Given the description of an element on the screen output the (x, y) to click on. 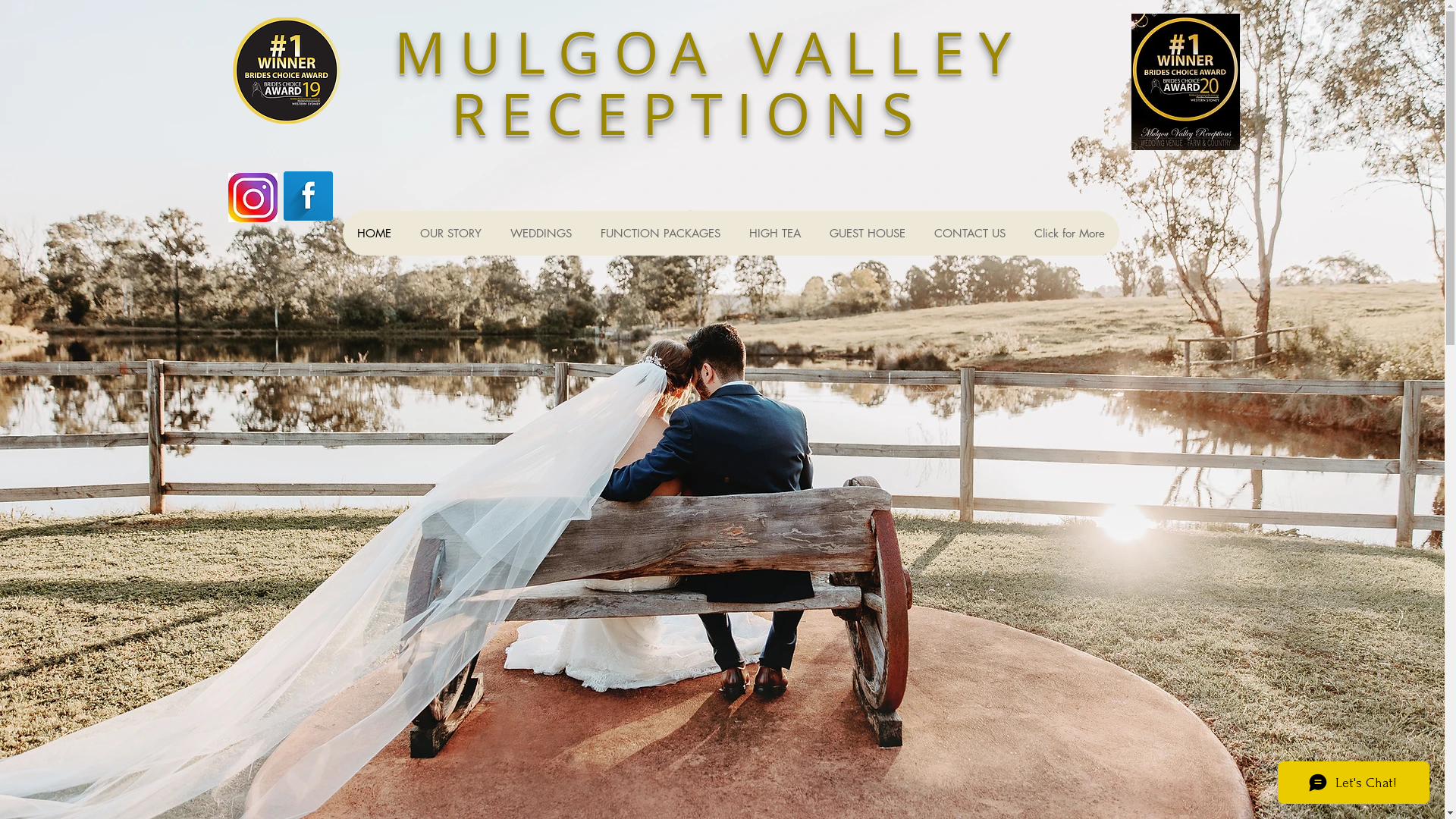
HIGH TEA Element type: text (774, 232)
GUEST HOUSE Element type: text (866, 232)
WEDDINGS Element type: text (540, 232)
OUR STORY Element type: text (449, 232)
FUNCTION PACKAGES Element type: text (659, 232)
CONTACT US Element type: text (969, 232)
HOME Element type: text (373, 232)
